Given the description of an element on the screen output the (x, y) to click on. 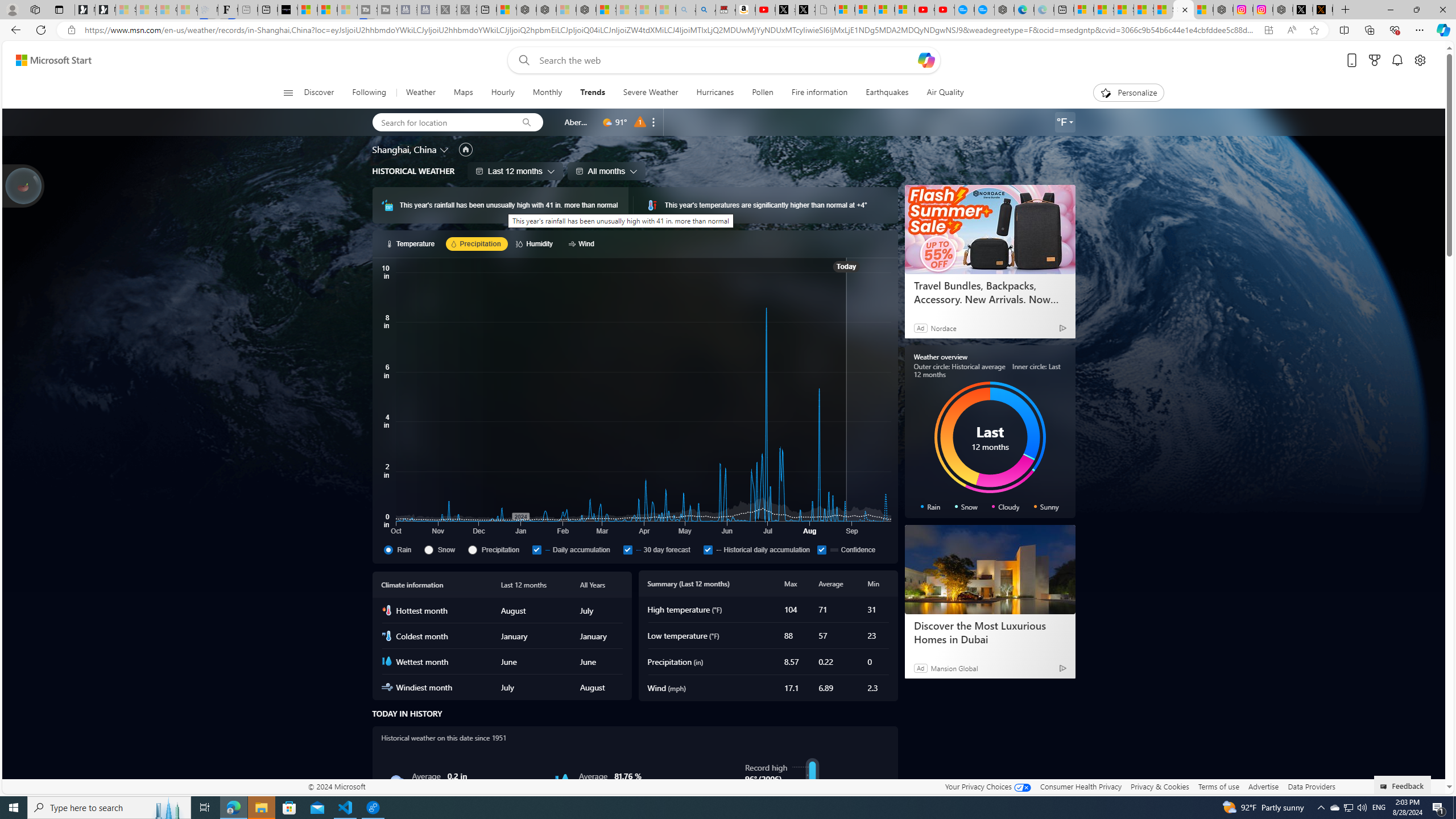
Historical daily accumulation (757, 549)
Precipitation (497, 549)
Discover the Most Luxurious Homes in Dubai (988, 632)
Monthly (547, 92)
Join us in planting real trees to help our planet! (23, 185)
